Given the description of an element on the screen output the (x, y) to click on. 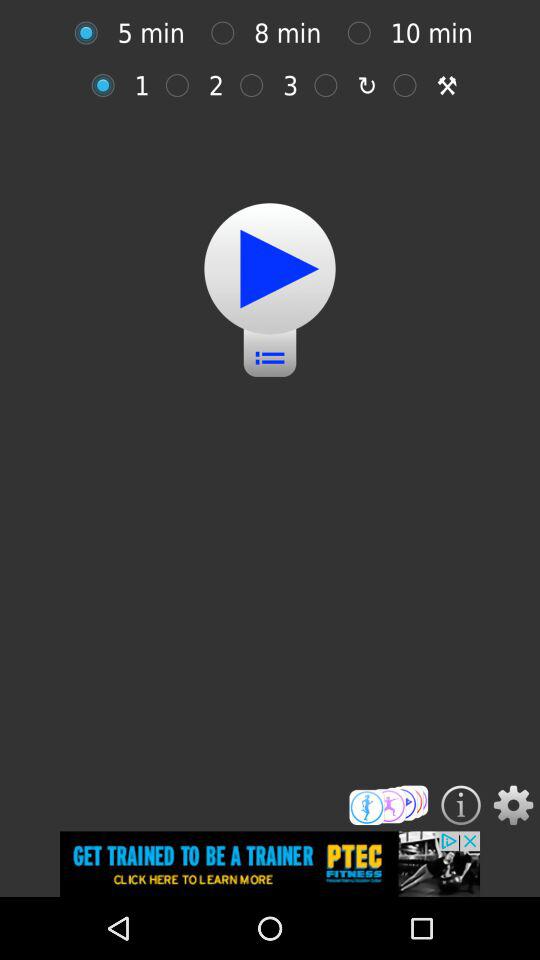
select to option (364, 32)
